Given the description of an element on the screen output the (x, y) to click on. 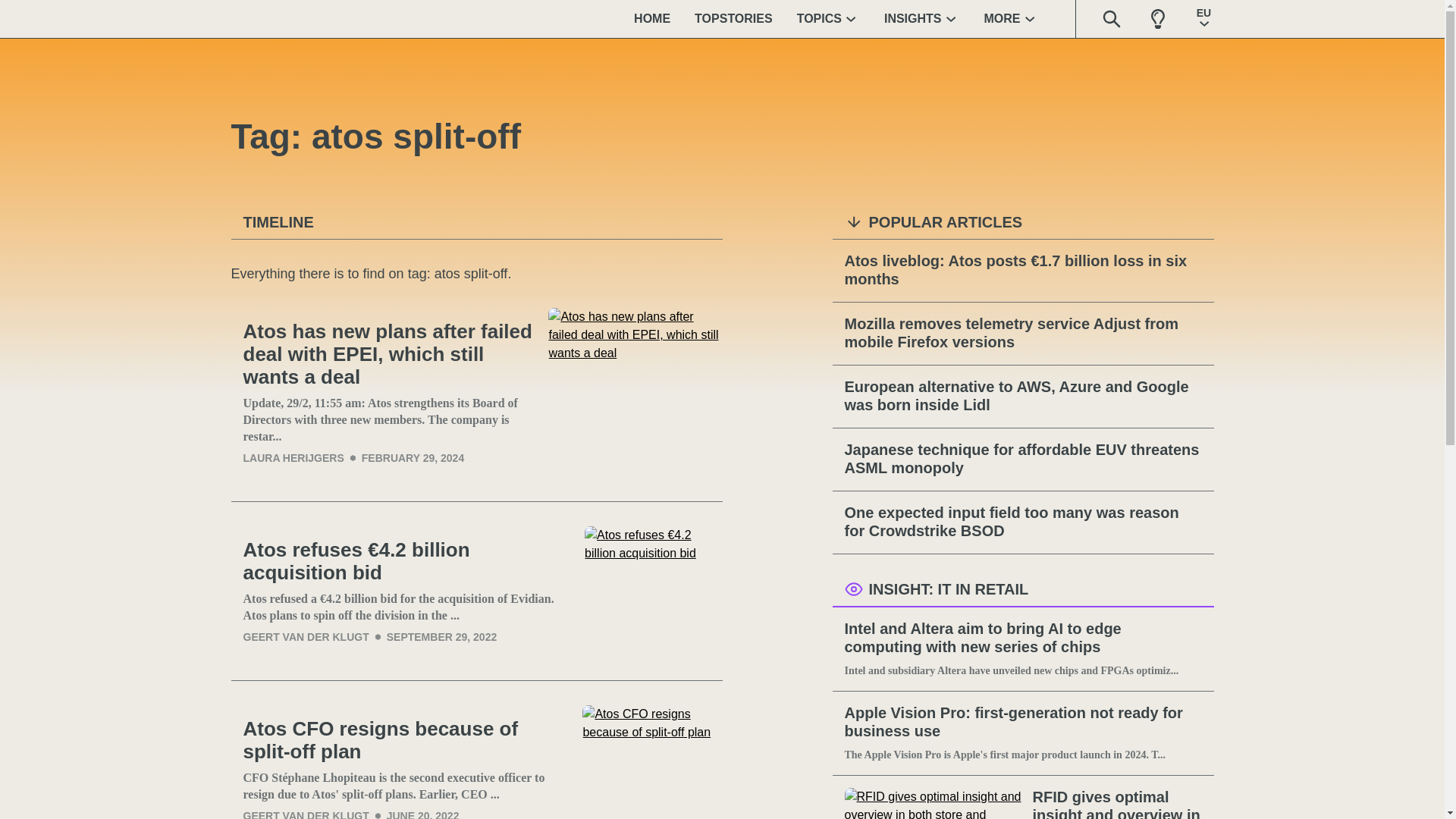
GEERT VAN DER KLUGT (305, 636)
HOME (651, 18)
INSIGHTS (922, 18)
Atos CFO resigns because of split-off plan (406, 740)
TOPICS (828, 18)
Atos CFO resigns because of split-off plan (406, 740)
